Given the description of an element on the screen output the (x, y) to click on. 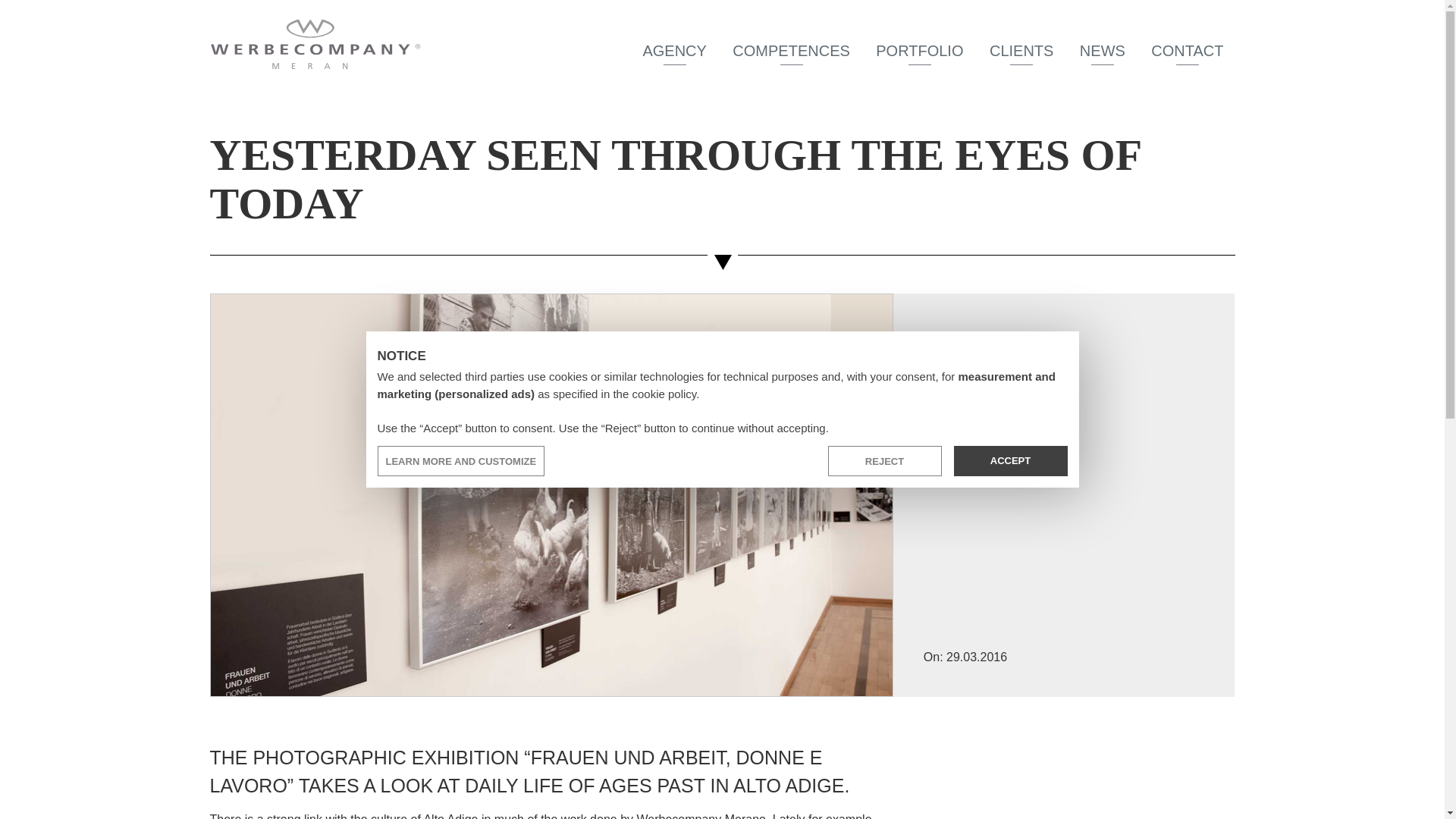
CONTACT (1187, 50)
ACCEPT (1010, 460)
LEARN MORE AND CUSTOMIZE (460, 460)
REJECT (885, 460)
AGENCY (673, 50)
CLIENTS (1021, 50)
cookie policy (663, 393)
NEWS (1102, 50)
PORTFOLIO (919, 50)
COMPETENCES (790, 50)
